Given the description of an element on the screen output the (x, y) to click on. 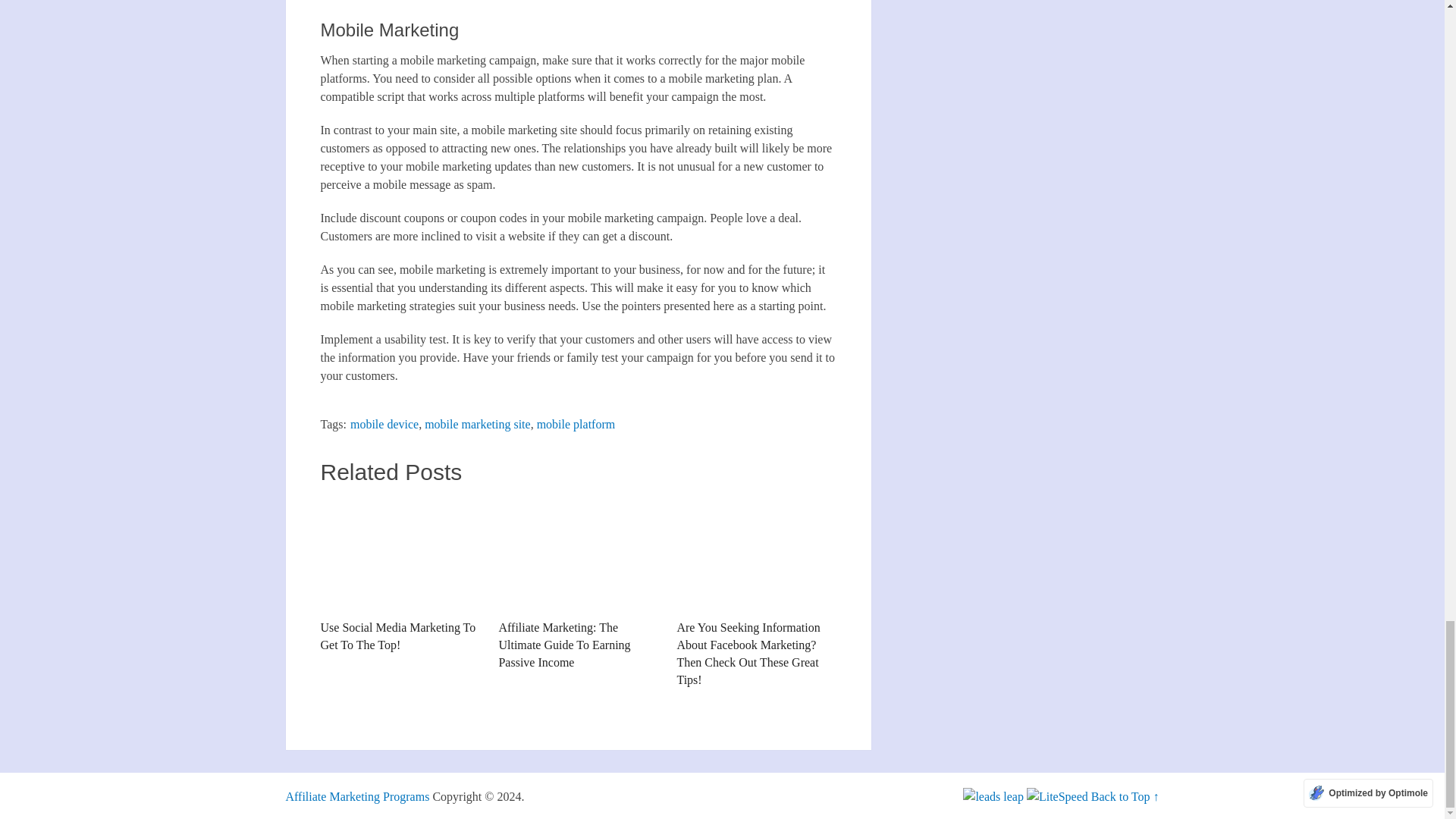
Use Social Media Marketing To Get To The Top! (399, 575)
mobile marketing site (478, 423)
Use Social Media Marketing To Get To The Top! (399, 575)
Affiliate Marketing Programs (357, 796)
Use Social Media Marketing To Get To The Top! (399, 553)
mobile device (384, 423)
mobile platform (576, 423)
Earn Thousands with Affiliate Marketing (357, 796)
